Given the description of an element on the screen output the (x, y) to click on. 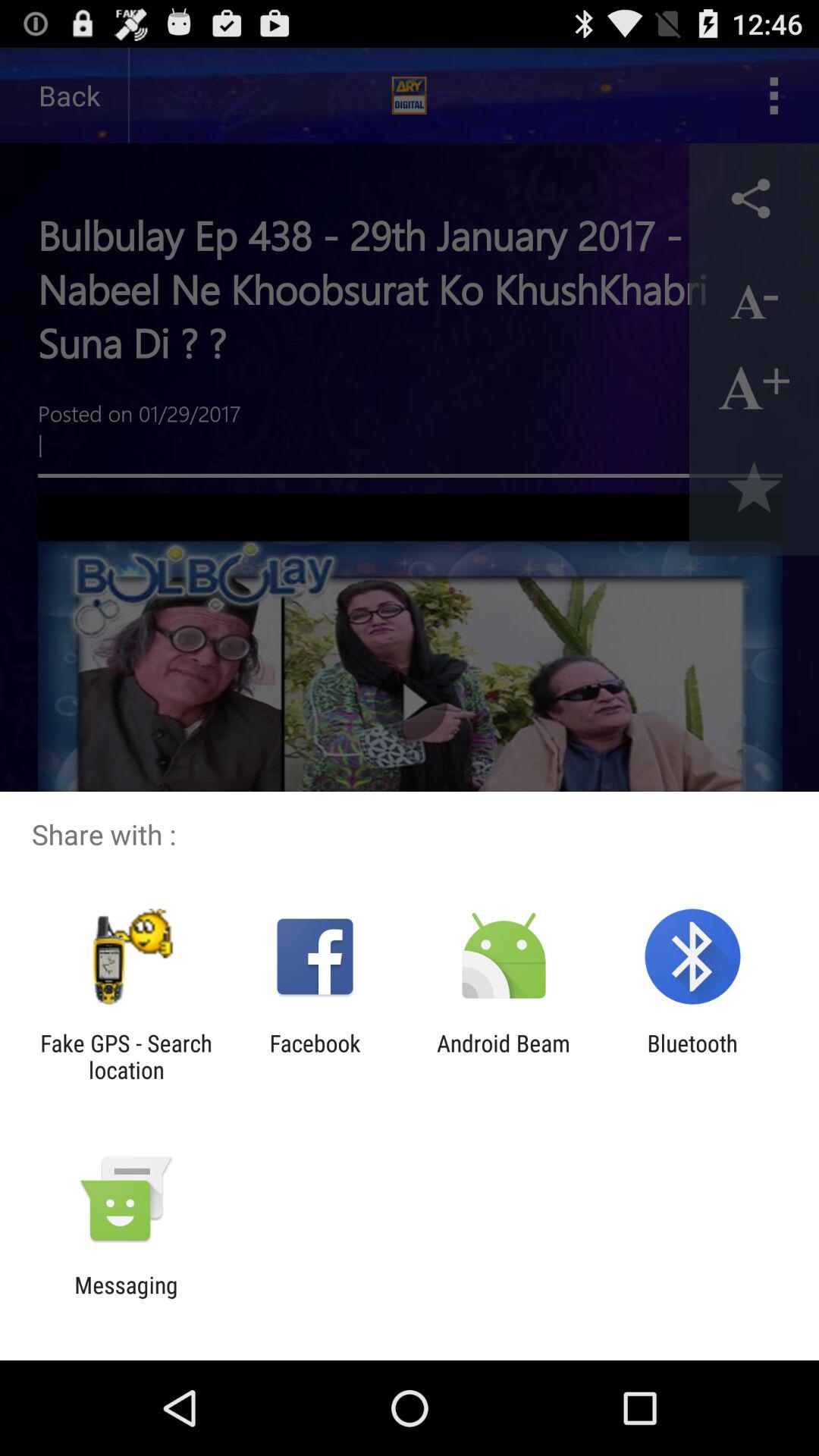
press facebook (314, 1056)
